Given the description of an element on the screen output the (x, y) to click on. 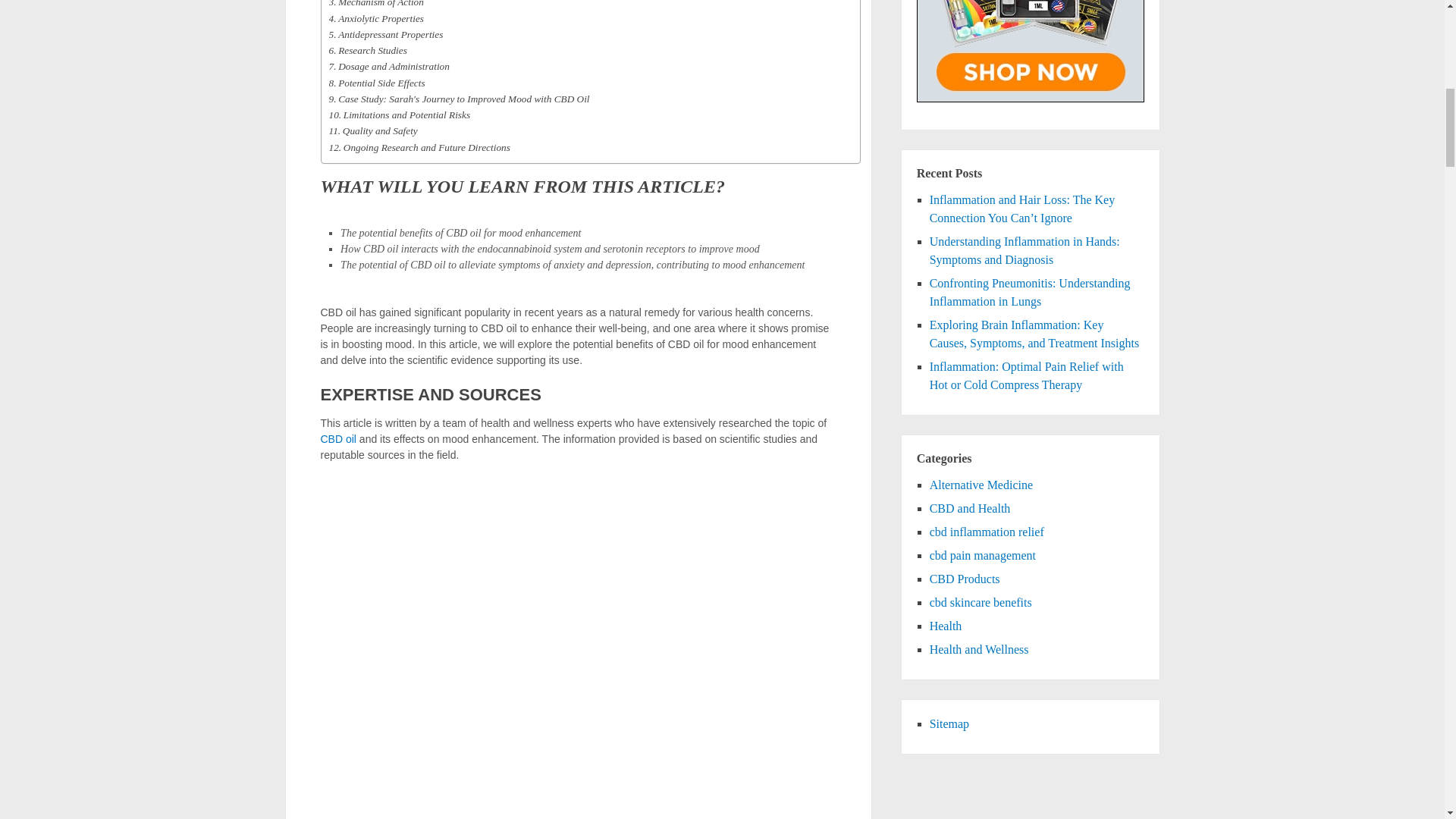
Potential Side Effects (377, 82)
Anxiolytic Properties (377, 18)
Antidepressant Properties (386, 34)
Case Study: Sarah's Journey to Improved Mood with CBD Oil (459, 98)
Dosage and Administration (389, 66)
Limitations and Potential Risks (399, 114)
Research Studies (368, 50)
Dosage and Administration (389, 66)
Ongoing Research and Future Directions (420, 147)
Mechanism of Action (376, 4)
